Given the description of an element on the screen output the (x, y) to click on. 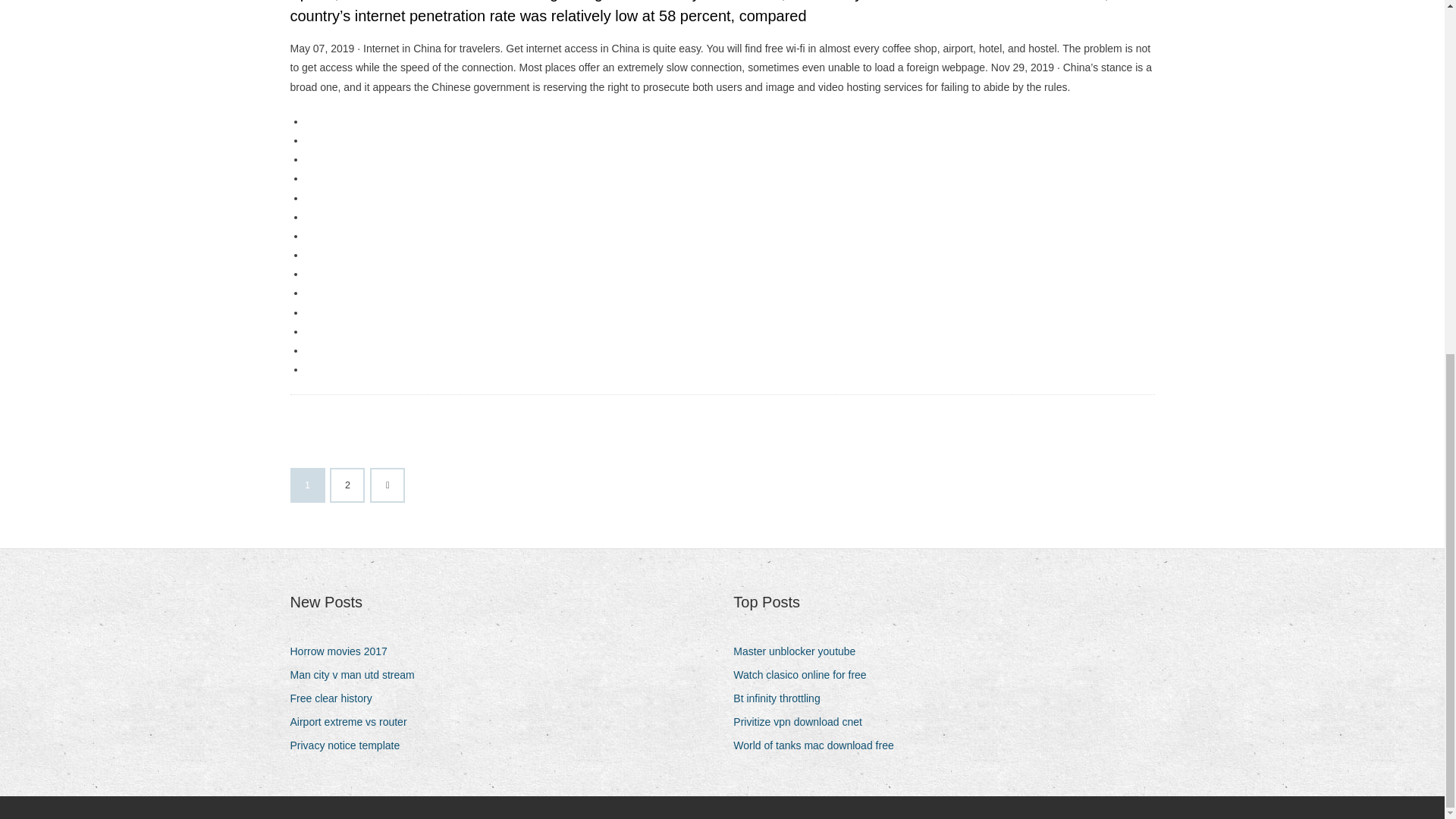
Master unblocker youtube (799, 651)
Airport extreme vs router (353, 721)
Horrow movies 2017 (343, 651)
Bt infinity throttling (782, 698)
Privitize vpn download cnet (803, 721)
World of tanks mac download free (818, 745)
2 (346, 485)
Privacy notice template (349, 745)
Watch clasico online for free (805, 675)
Free clear history (335, 698)
Man city v man utd stream (357, 675)
